Given the description of an element on the screen output the (x, y) to click on. 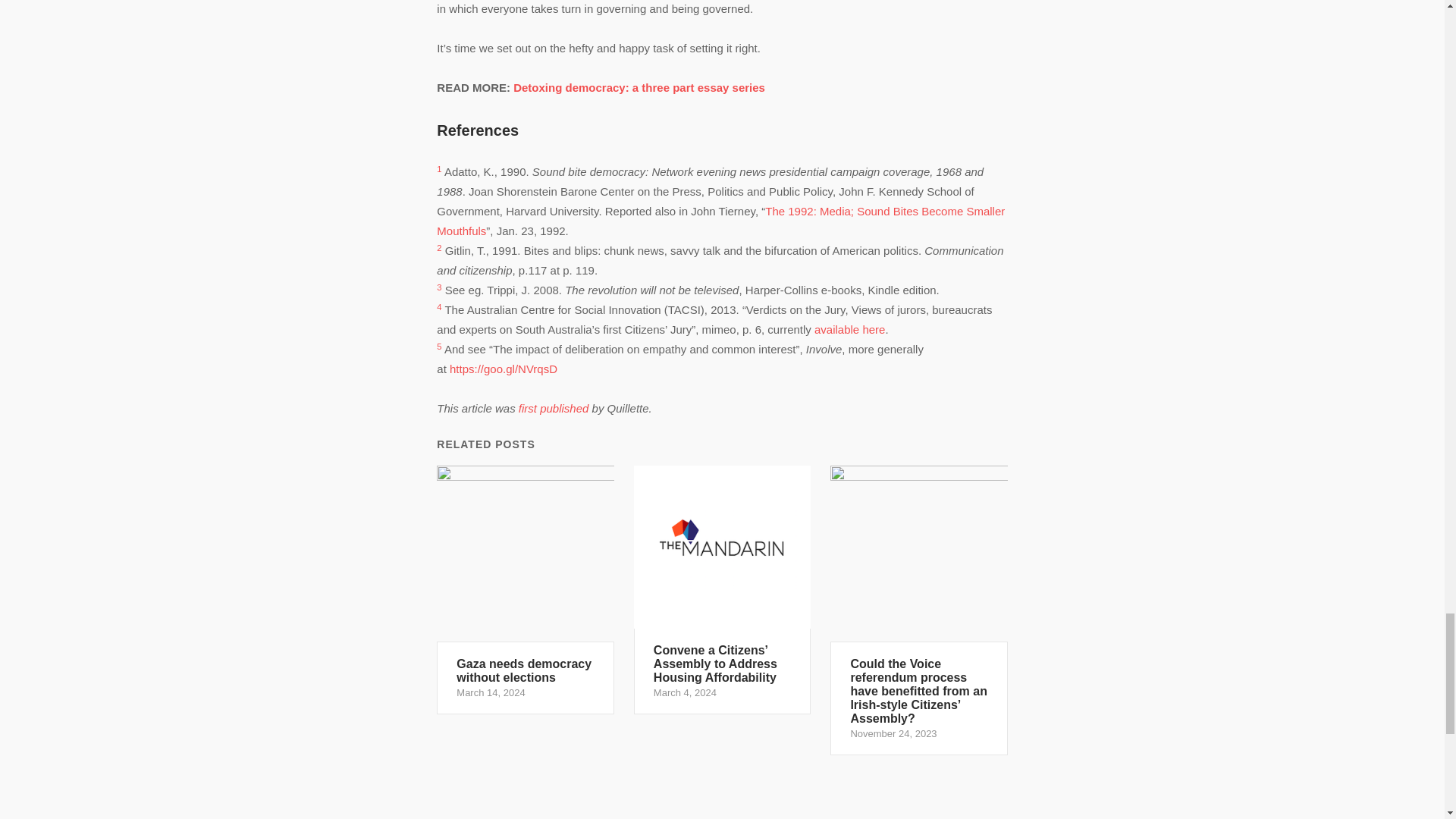
Detoxing democracy: a three part essay series (639, 87)
